Given the description of an element on the screen output the (x, y) to click on. 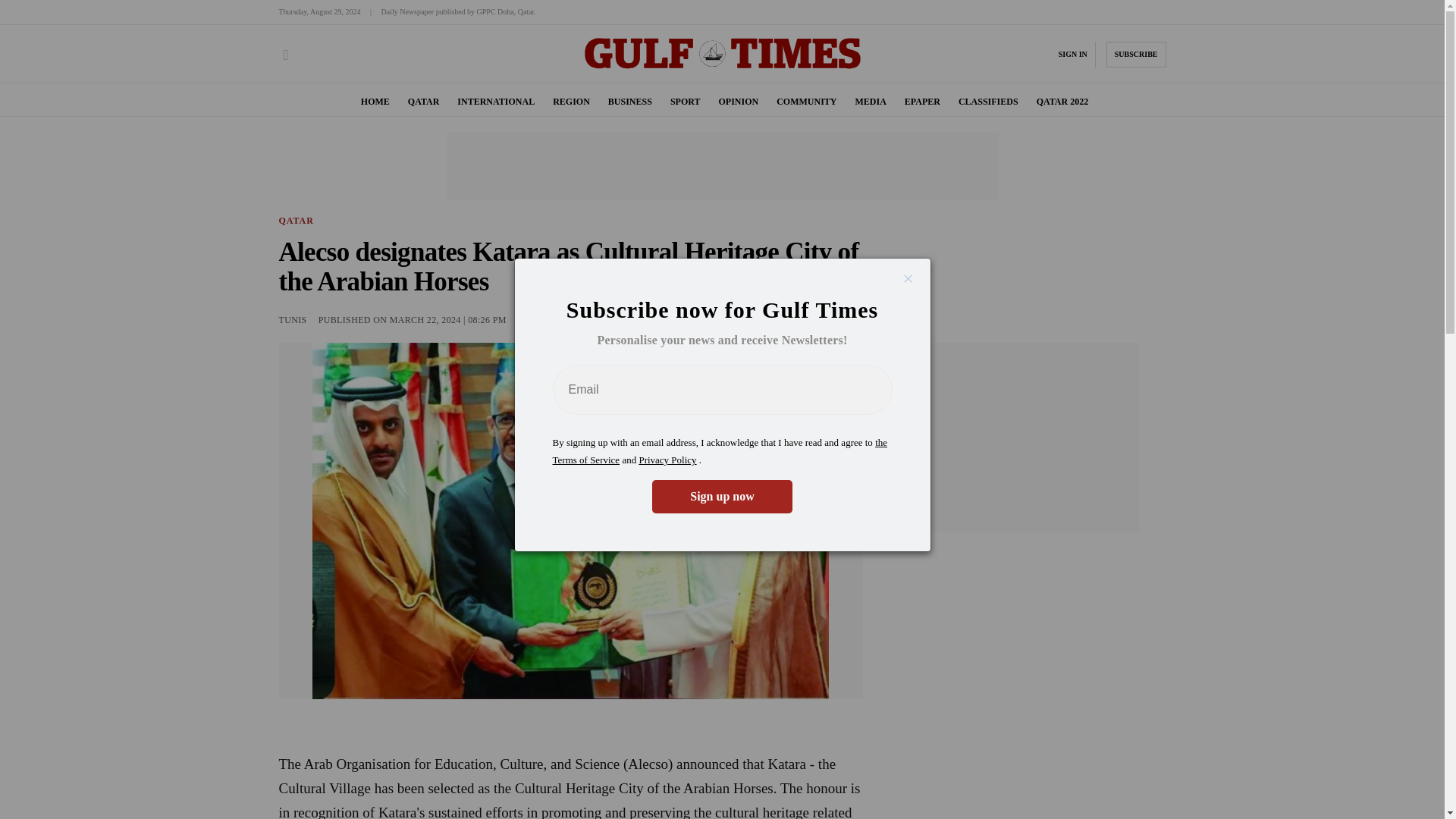
CLASSIFIEDS (987, 101)
INTERNATIONAL (495, 101)
BUSINESS (630, 101)
MEDIA (869, 101)
EPAPER (922, 101)
SIGN IN (1072, 53)
COMMUNITY (805, 101)
Sign up now (722, 496)
MEDIA (869, 101)
QATAR (423, 101)
